Given the description of an element on the screen output the (x, y) to click on. 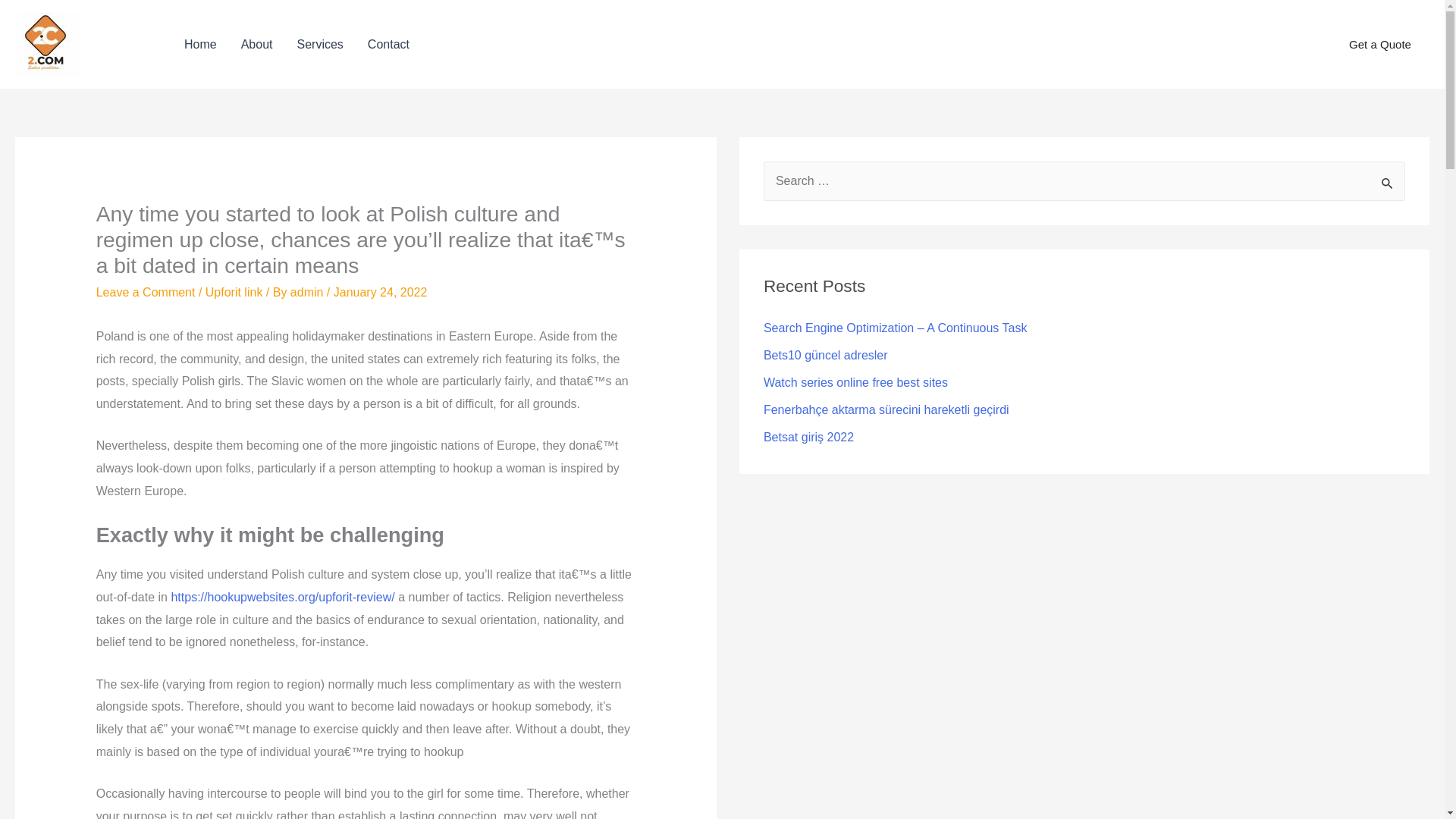
Upforit link (234, 291)
Watch series online free best sites (854, 382)
admin (307, 291)
Leave a Comment (145, 291)
Get a Quote (1379, 44)
View all posts by admin (307, 291)
